Given the description of an element on the screen output the (x, y) to click on. 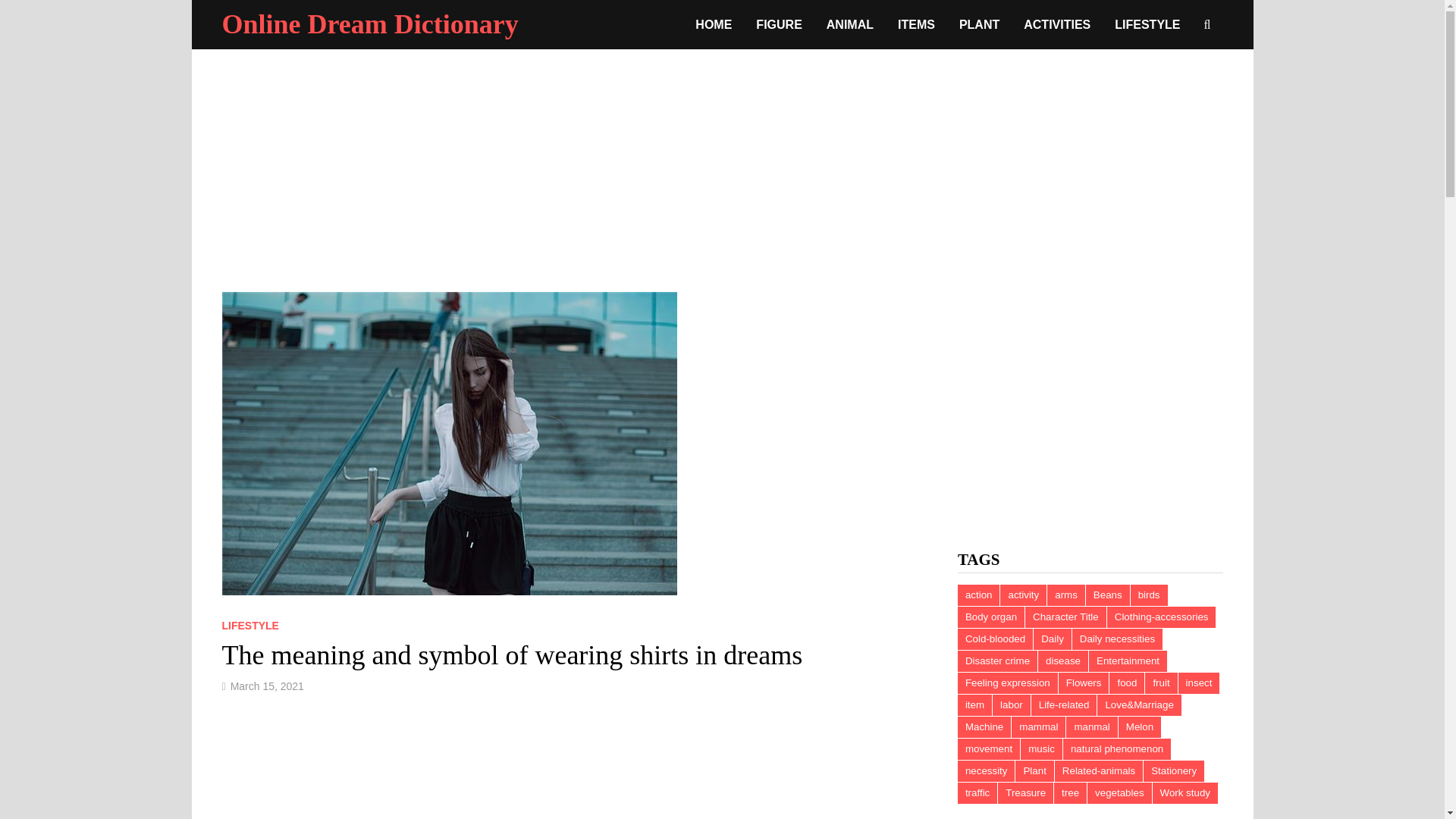
FIGURE (778, 24)
March 15, 2021 (267, 686)
ACTIVITIES (1056, 24)
PLANT (979, 24)
Online Dream Dictionary (369, 24)
LIFESTYLE (249, 625)
HOME (713, 24)
ITEMS (916, 24)
LIFESTYLE (1147, 24)
ANIMAL (849, 24)
